Given the description of an element on the screen output the (x, y) to click on. 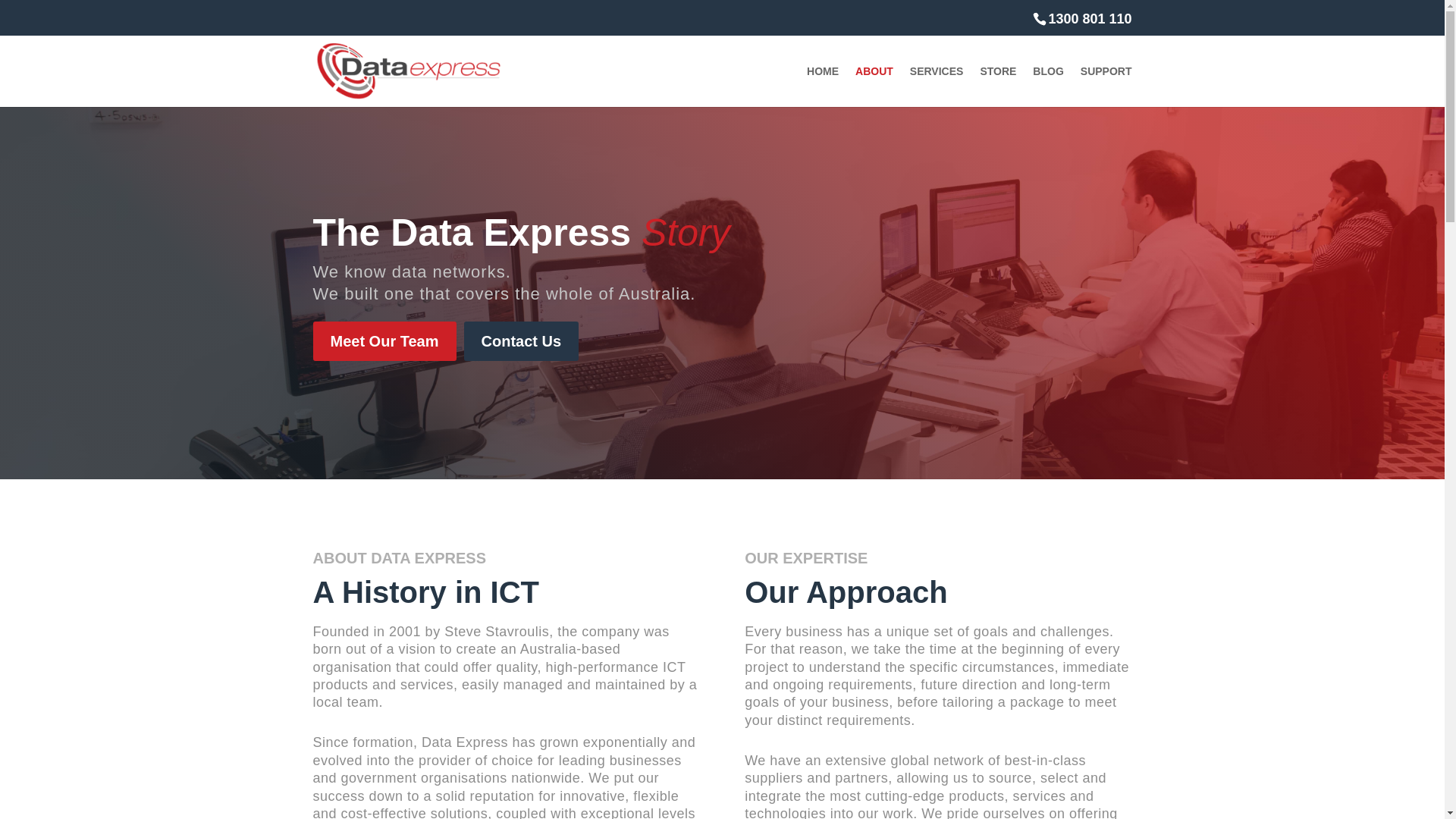
STORE Element type: text (997, 85)
1300 801 110 Element type: text (1081, 17)
SERVICES Element type: text (936, 85)
Contact Us Element type: text (521, 340)
SUPPORT Element type: text (1106, 85)
HOME Element type: text (822, 85)
Meet Our Team Element type: text (383, 340)
ABOUT Element type: text (874, 85)
BLOG Element type: text (1047, 85)
